Given the description of an element on the screen output the (x, y) to click on. 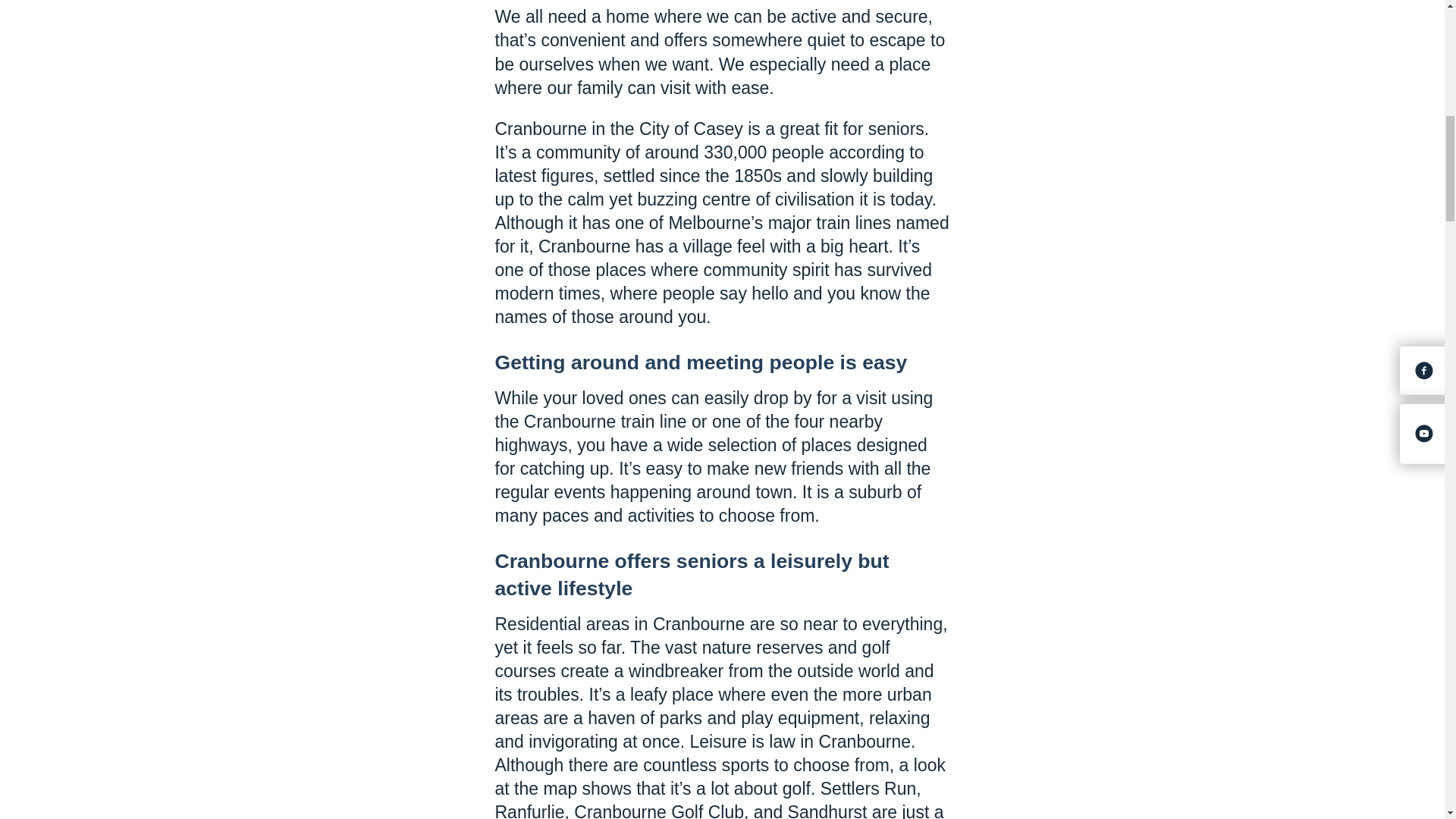
around 330,000 people (734, 152)
City of Casey (690, 128)
Settlers Run (869, 788)
Cranbourne Golf Club (658, 810)
Sandhurst (827, 810)
Ranfurlie (529, 810)
